Given the description of an element on the screen output the (x, y) to click on. 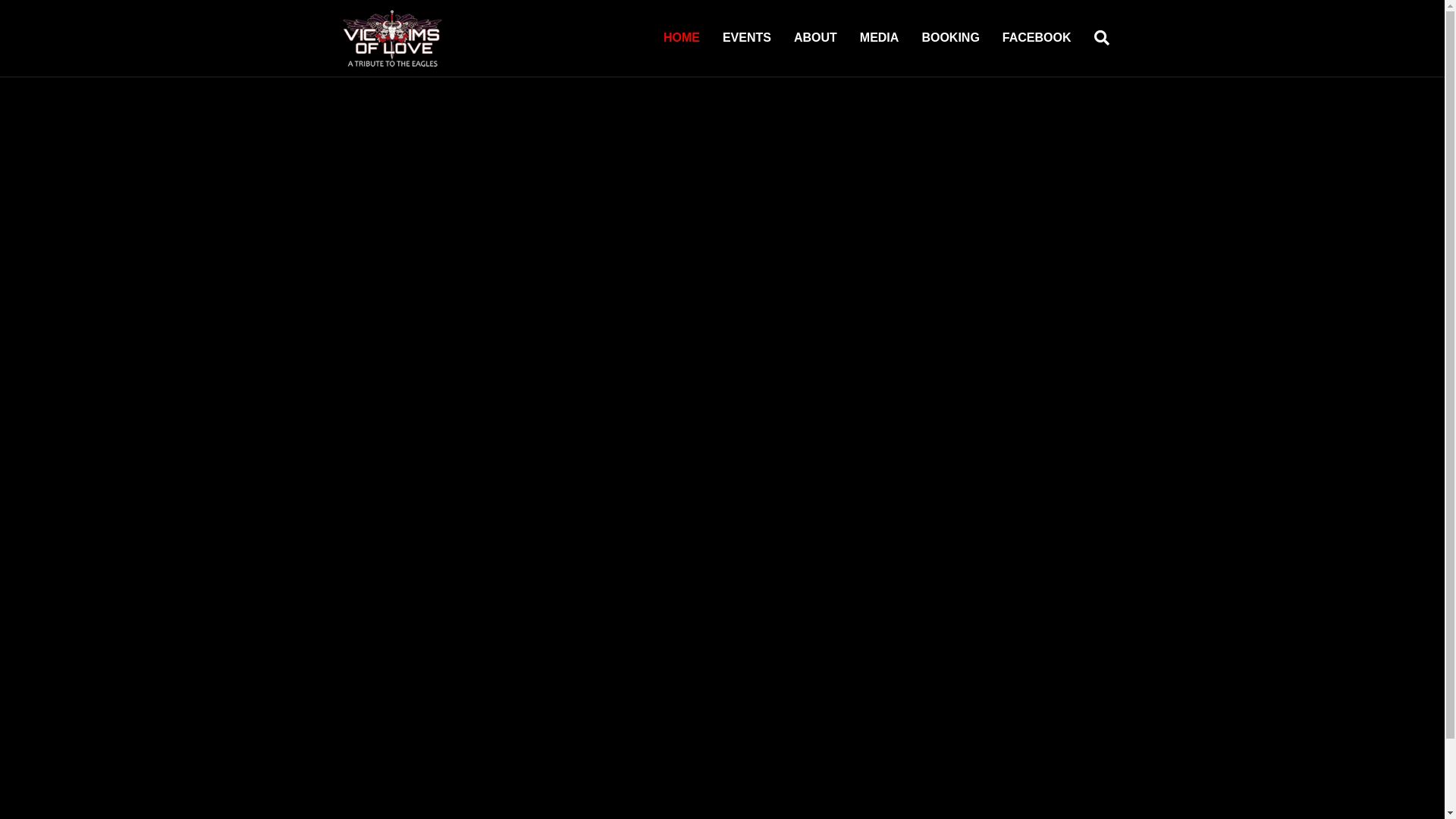
HOME Element type: text (681, 37)
FACEBOOK Element type: text (1036, 37)
MEDIA Element type: text (879, 37)
EVENTS Element type: text (746, 37)
BOOKING Element type: text (950, 37)
ABOUT Element type: text (815, 37)
